Given the description of an element on the screen output the (x, y) to click on. 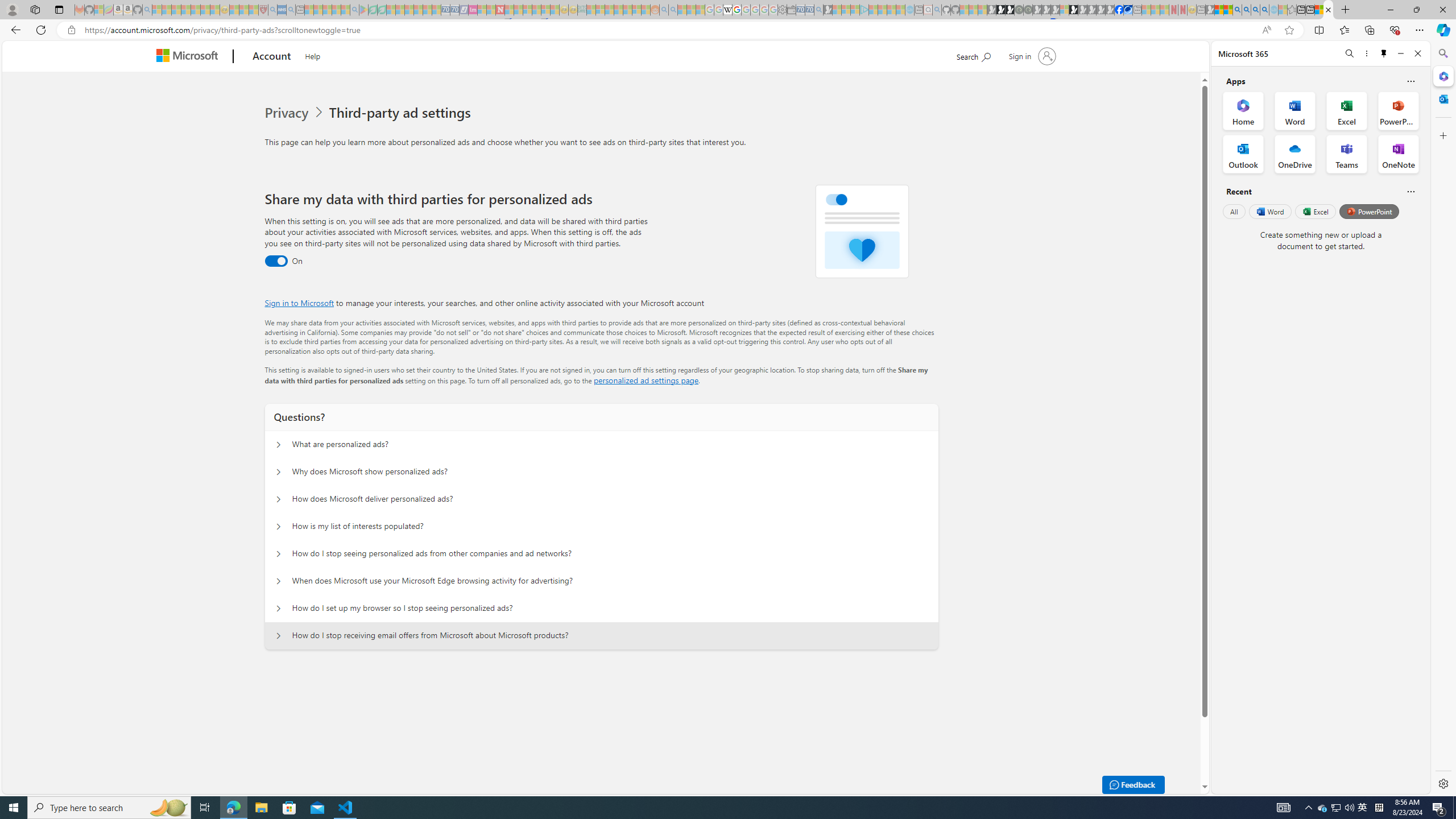
Home Office App (1243, 110)
Search Microsoft.com (972, 54)
